Given the description of an element on the screen output the (x, y) to click on. 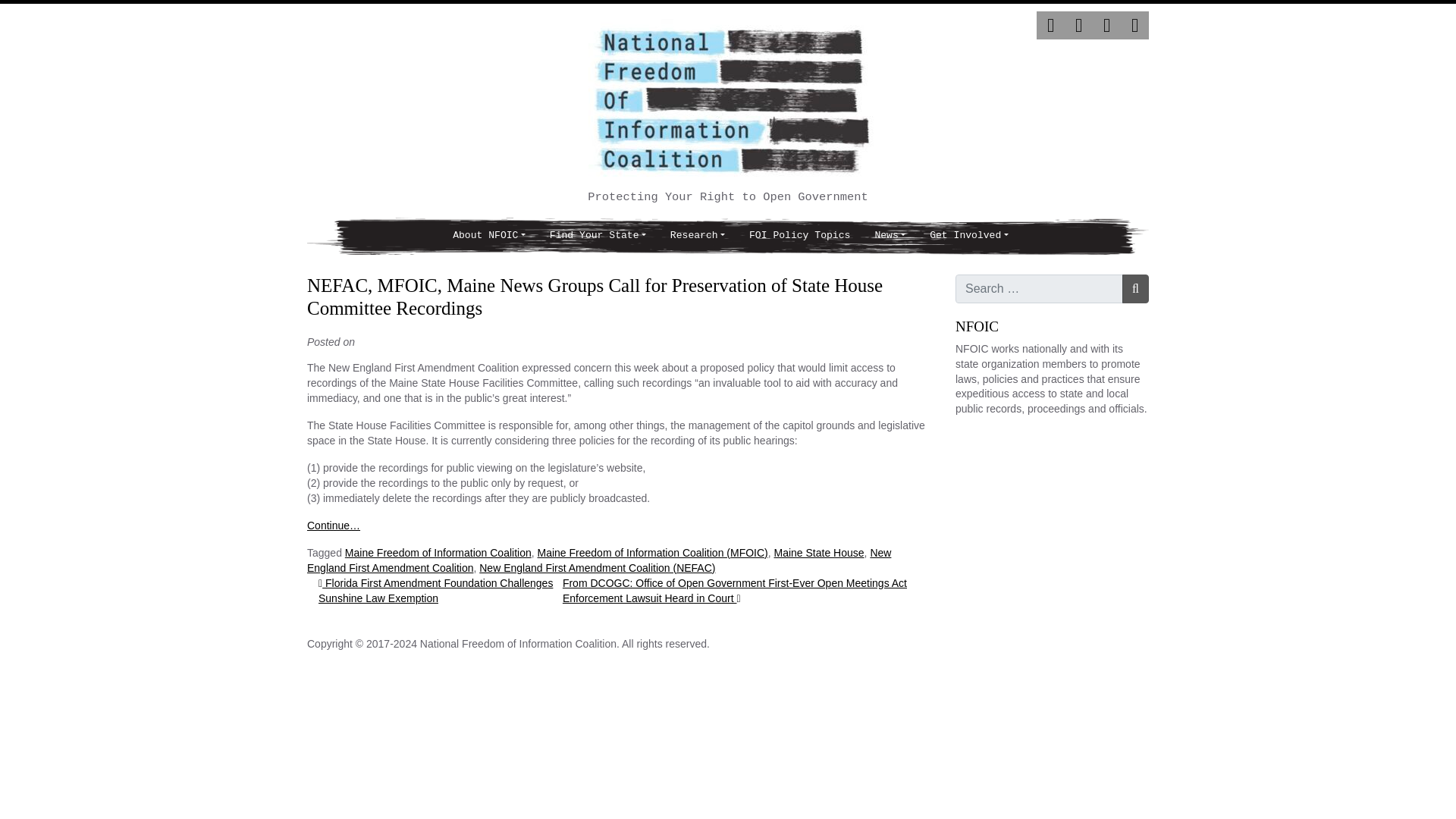
Facebook (1078, 25)
Instagram (1107, 25)
Maine Freedom of Information Coalition (438, 552)
Get Involved (968, 235)
Twitter (1050, 25)
FOI Policy Topics (798, 235)
News (889, 235)
Find Your State (597, 235)
Facebook (1078, 25)
About NFOIC (489, 235)
Twitter (1050, 25)
Instagram (1106, 25)
YouTube (1134, 25)
YouTube (1134, 25)
About NFOIC (489, 235)
